Given the description of an element on the screen output the (x, y) to click on. 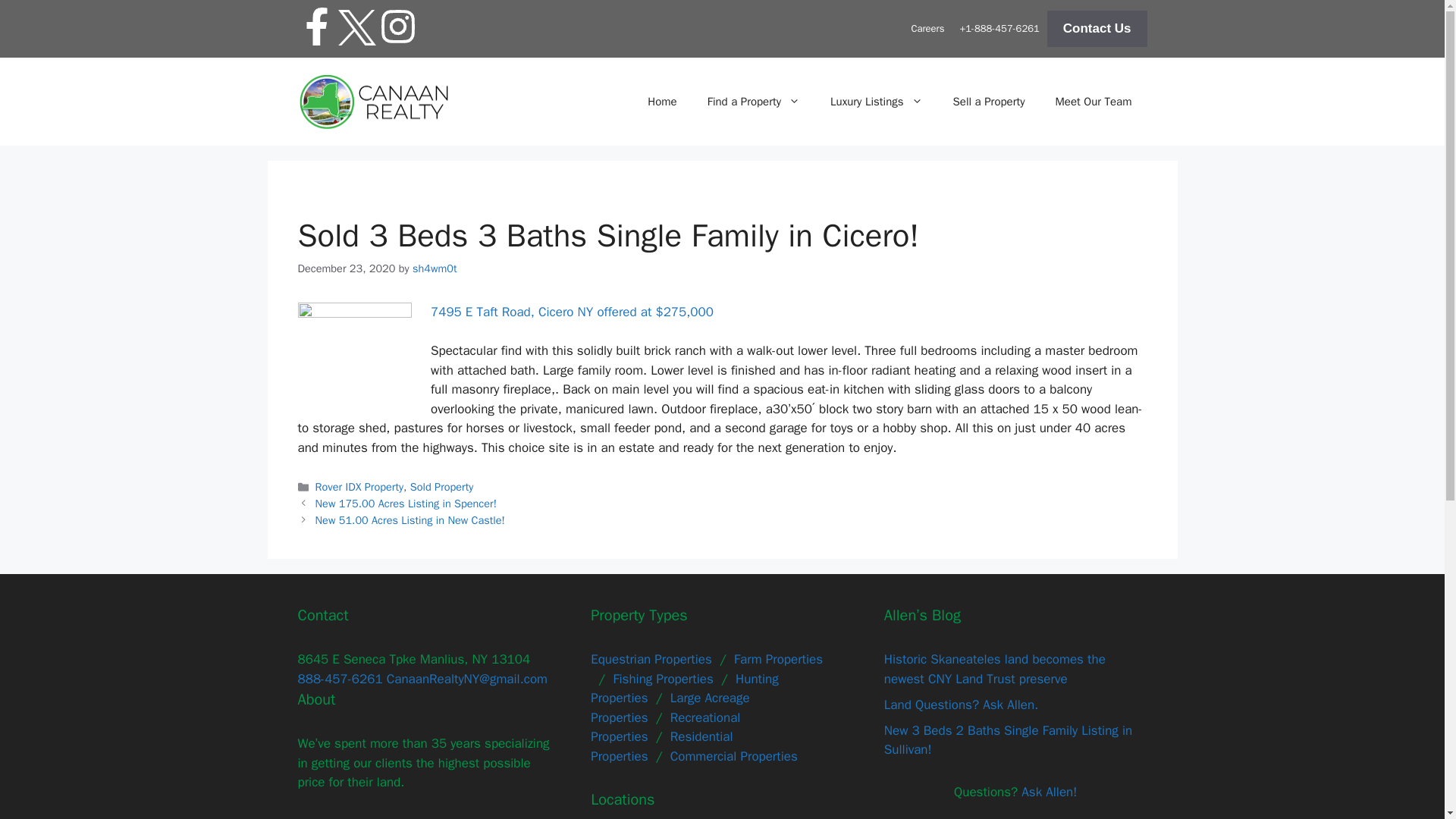
Farm Properties (777, 659)
Fishing Properties (662, 678)
Find a Property (754, 101)
Home (661, 101)
Large Acreage Properties (670, 707)
New 175.00 Acres Listing in Spencer! (405, 503)
Contact Us (1096, 28)
888-457-6261 (339, 678)
Sold Property (442, 486)
Contact Us (1096, 29)
